Given the description of an element on the screen output the (x, y) to click on. 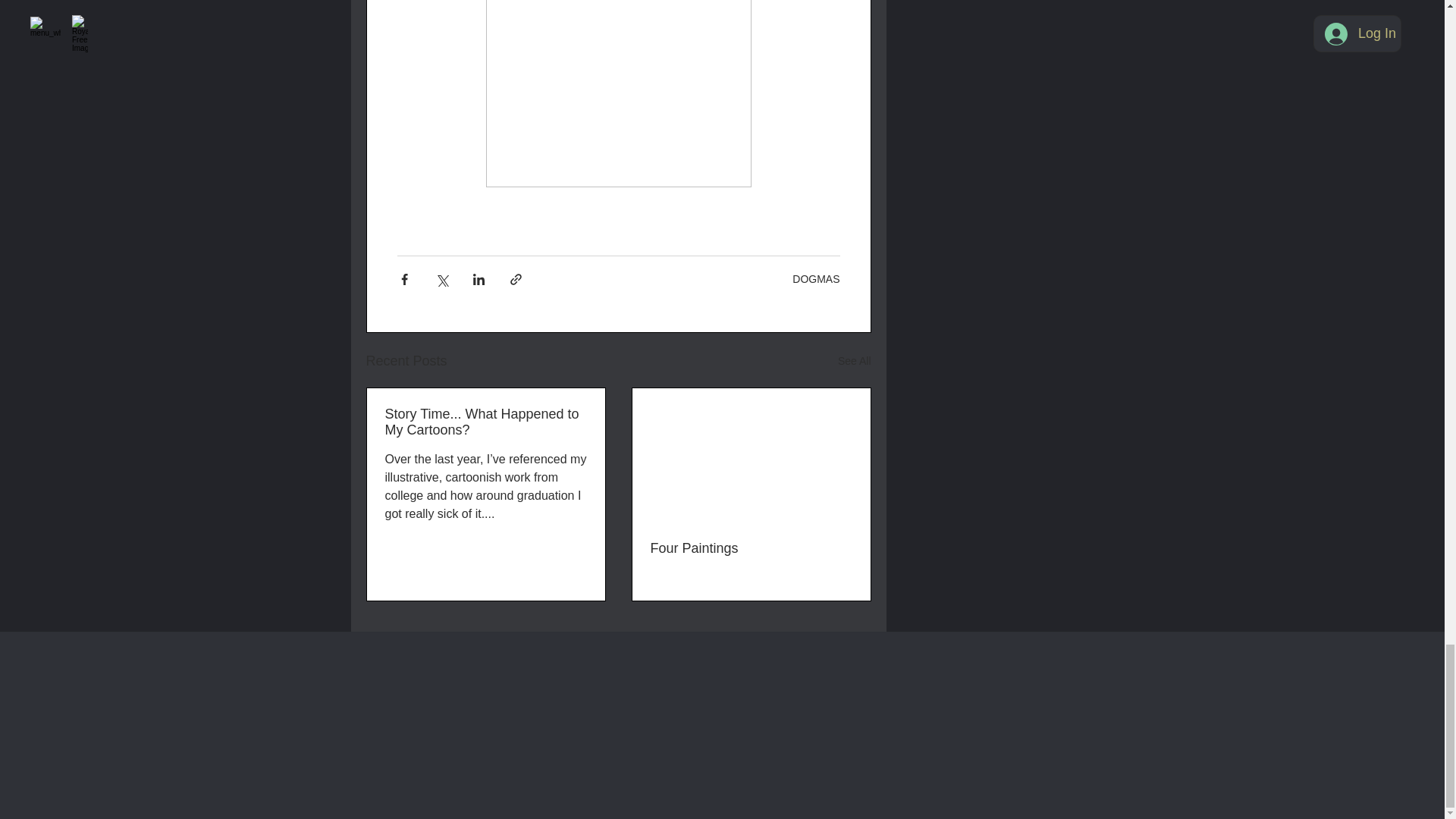
See All (854, 361)
DOGMAS (816, 278)
Four Paintings (750, 548)
Story Time... What Happened to My Cartoons? (485, 422)
